Given the description of an element on the screen output the (x, y) to click on. 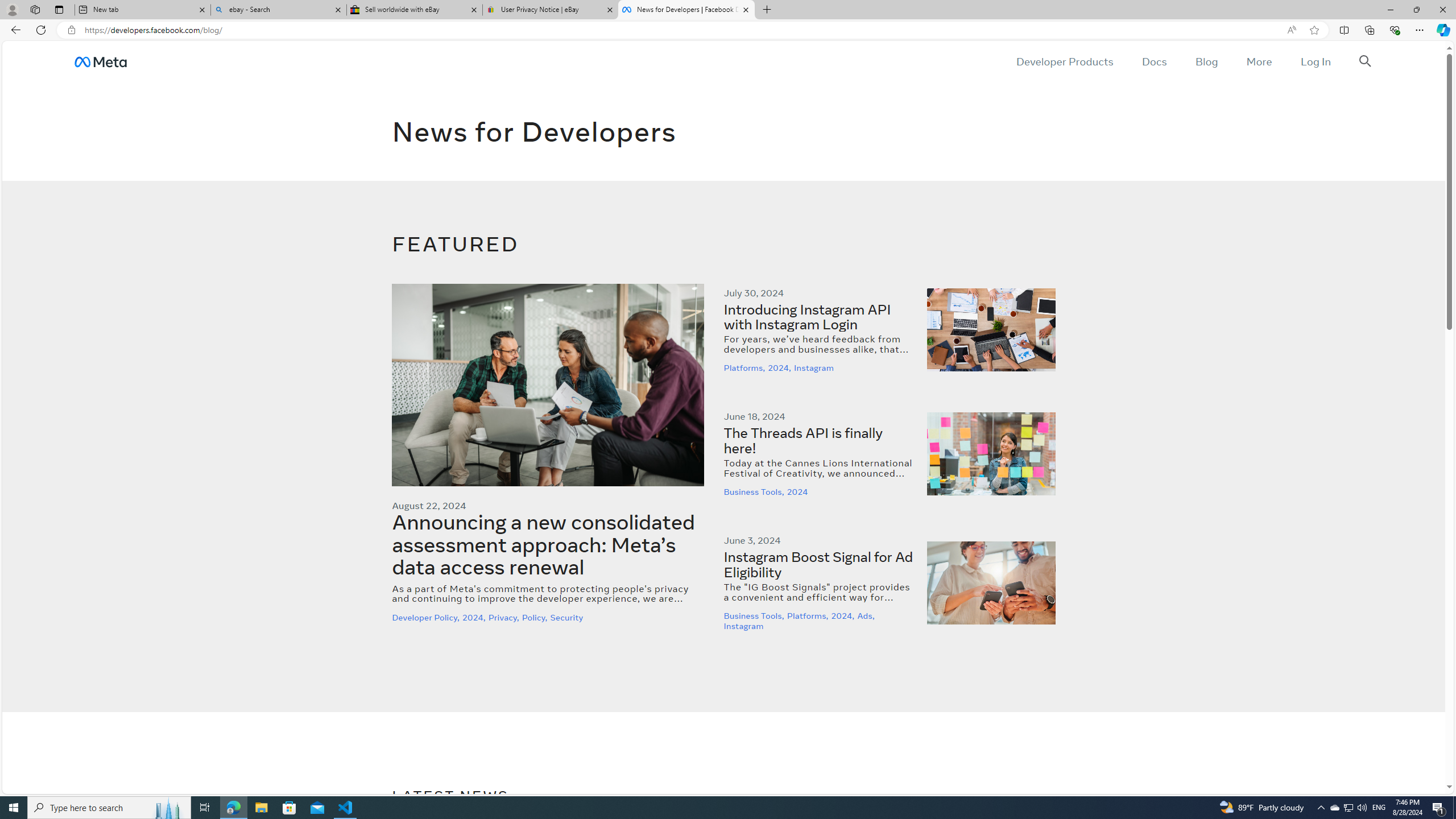
News for Developers | Facebook Developers (685, 9)
Instagram (745, 626)
Privacy, (504, 616)
Log In (1315, 61)
Sell worldwide with eBay (414, 9)
User Privacy Notice | eBay (550, 9)
Log In (1315, 61)
